Given the description of an element on the screen output the (x, y) to click on. 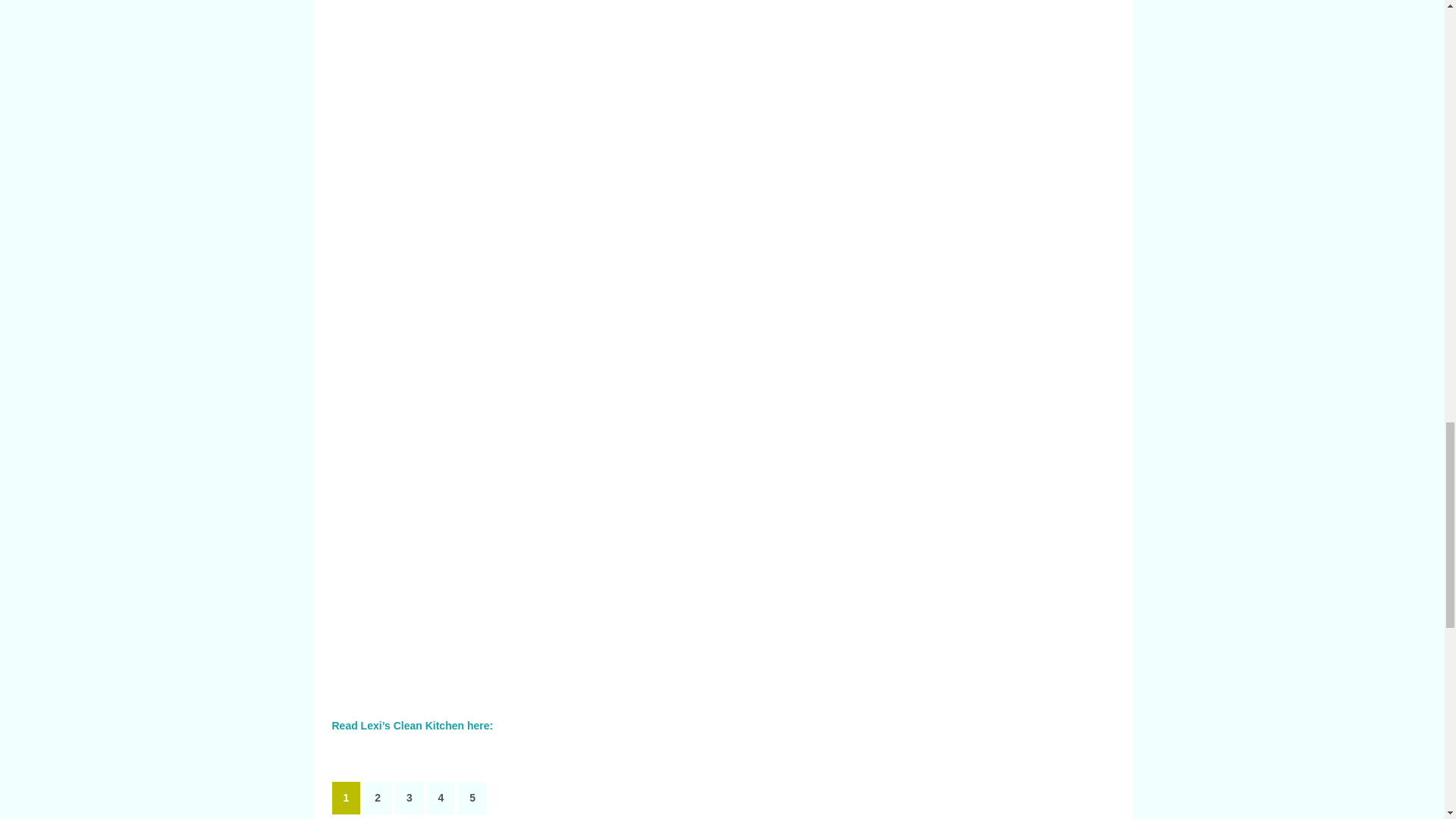
4 (440, 797)
5 (472, 797)
2 (376, 797)
3 (408, 797)
